Given the description of an element on the screen output the (x, y) to click on. 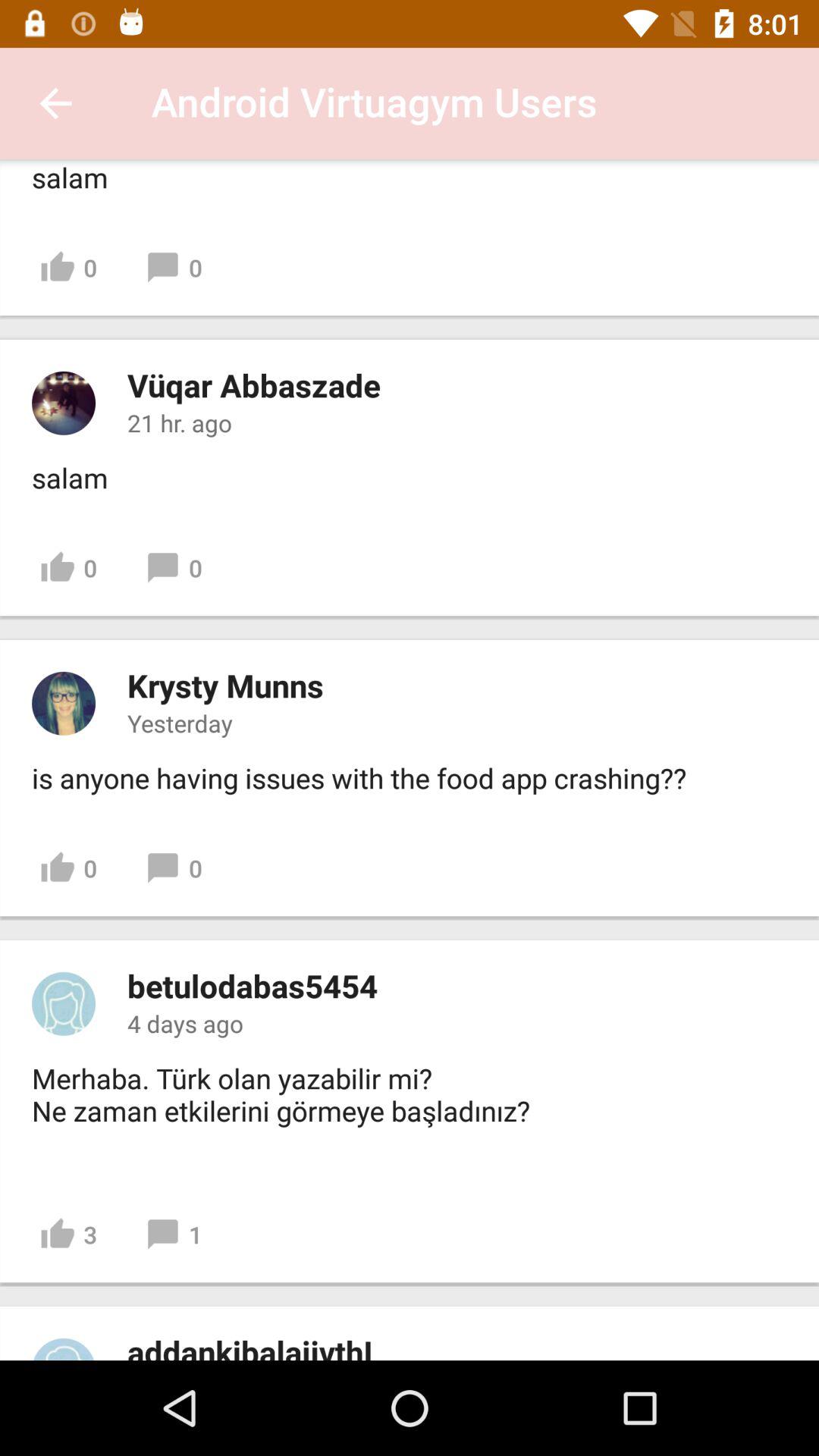
turn on item above the addankibalajivthi item (68, 1234)
